Given the description of an element on the screen output the (x, y) to click on. 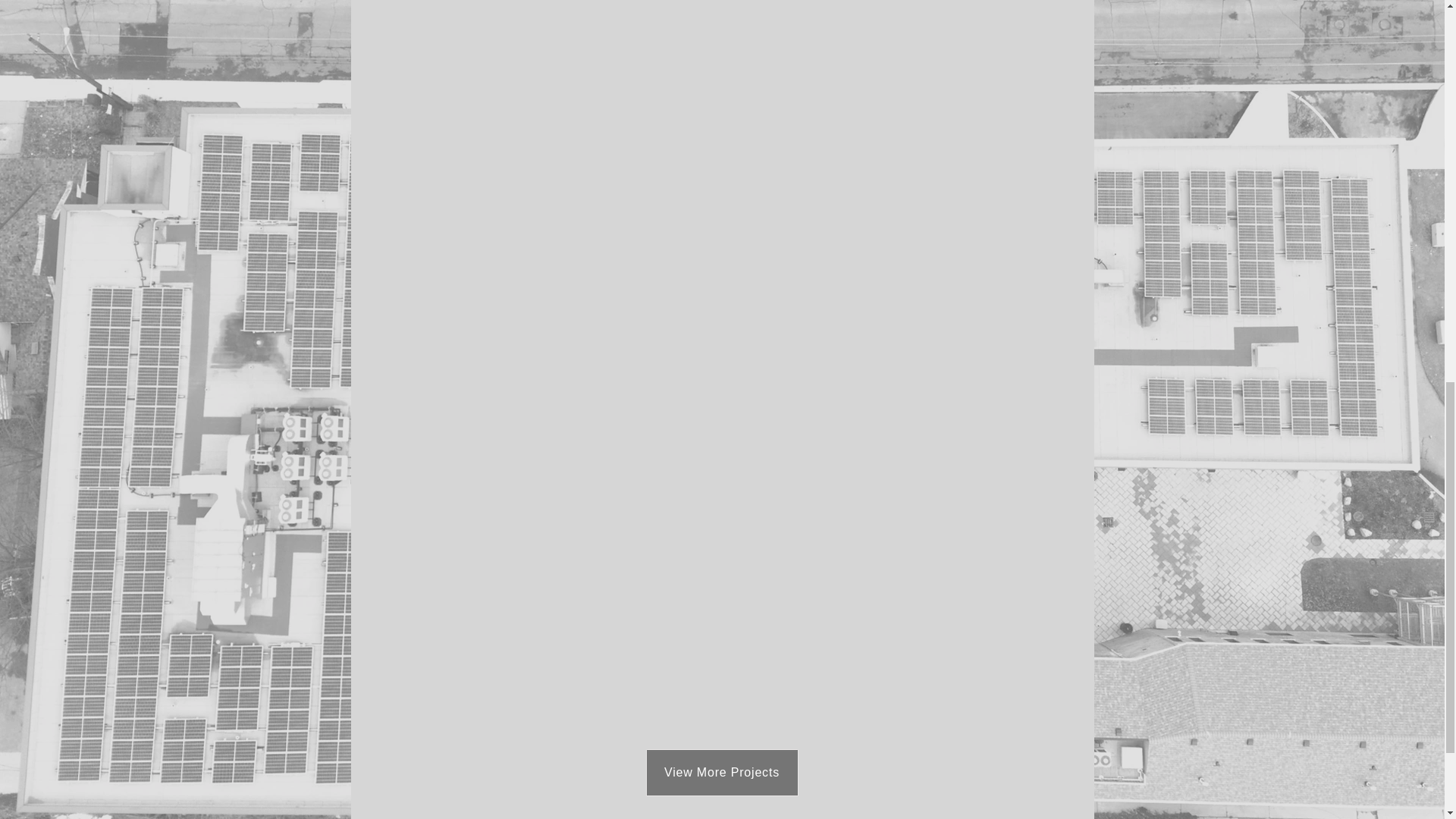
View More Projects (721, 772)
